Given the description of an element on the screen output the (x, y) to click on. 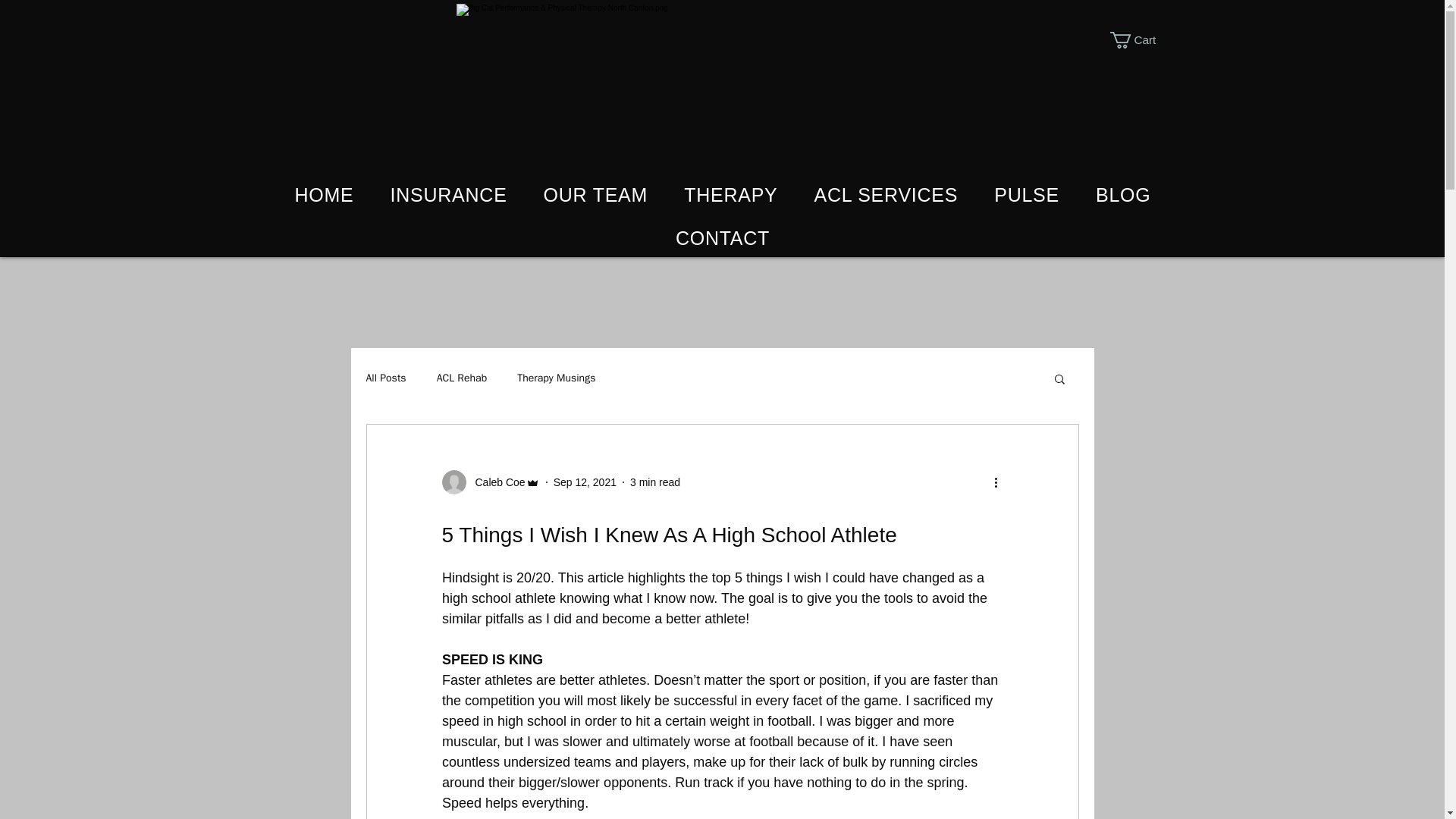
HOME (323, 194)
Sep 12, 2021 (584, 481)
Cart (1141, 39)
Cart (1141, 39)
ACL Rehab (461, 377)
BLOG (1123, 194)
Caleb Coe (494, 482)
PULSE (1026, 194)
Therapy Musings (555, 377)
CONTACT (722, 238)
